Given the description of an element on the screen output the (x, y) to click on. 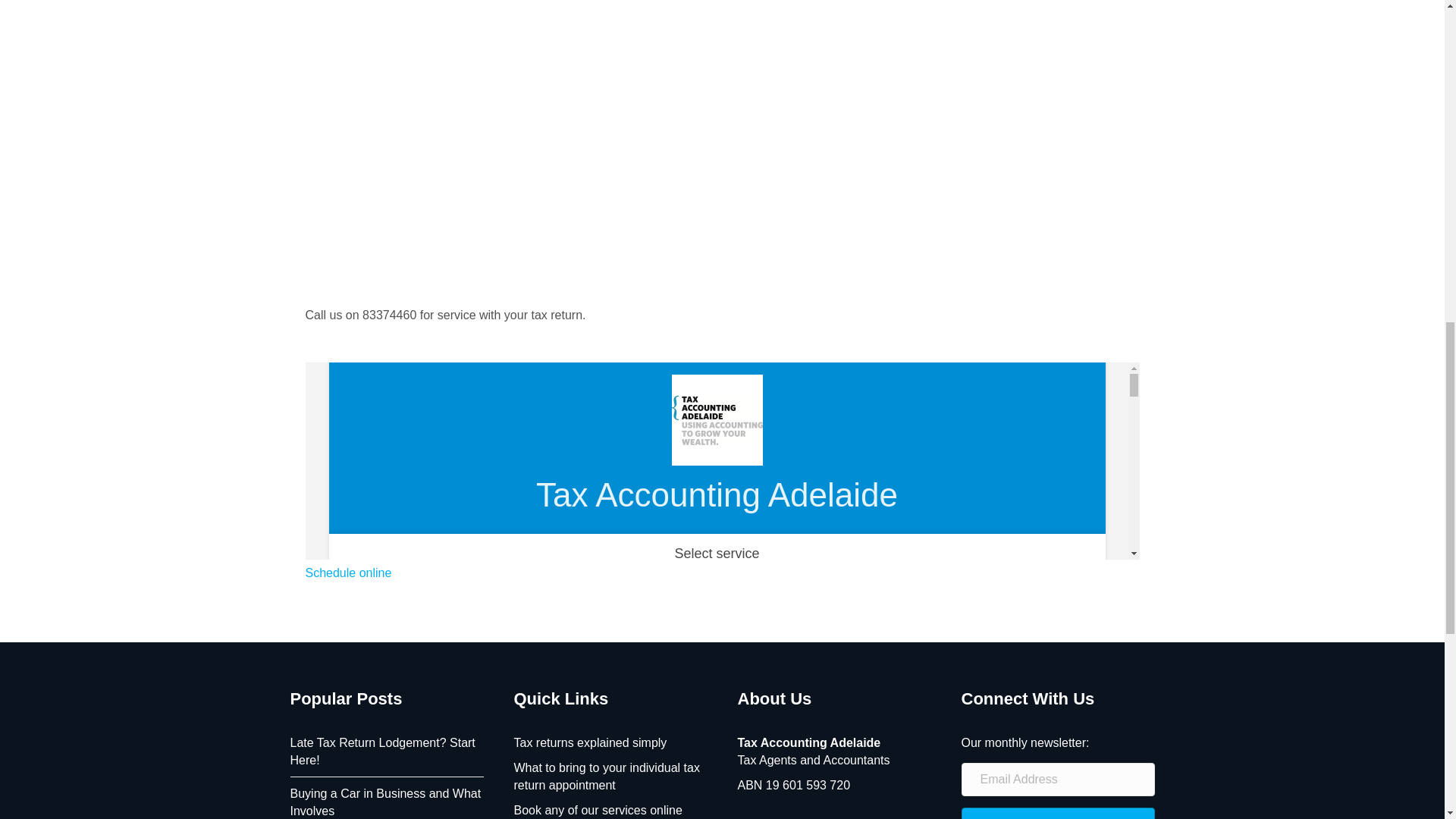
Late Tax Return Lodgement? Start Here! (381, 751)
Buying a Car in Business and What Involves (384, 802)
Schedule online (347, 572)
